Given the description of an element on the screen output the (x, y) to click on. 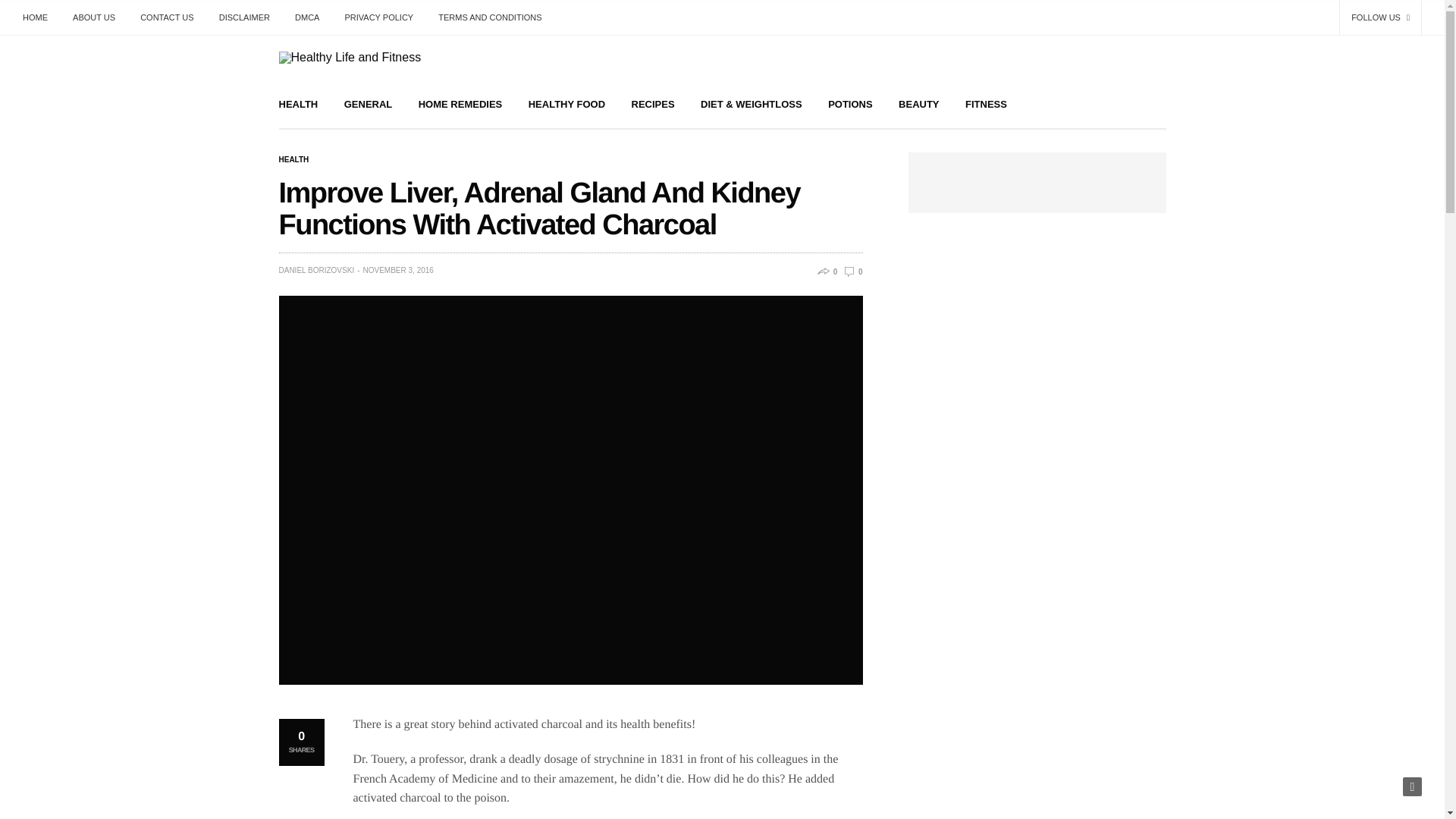
HOME REMEDIES (460, 103)
CONTACT US (167, 17)
ABOUT US (93, 17)
FOLLOW US (1380, 17)
DISCLAIMER (244, 17)
HEALTHY FOOD (566, 103)
PRIVACY POLICY (379, 17)
Posts by Daniel Borizovski (317, 270)
HEALTH (293, 159)
BEAUTY (918, 103)
